Given the description of an element on the screen output the (x, y) to click on. 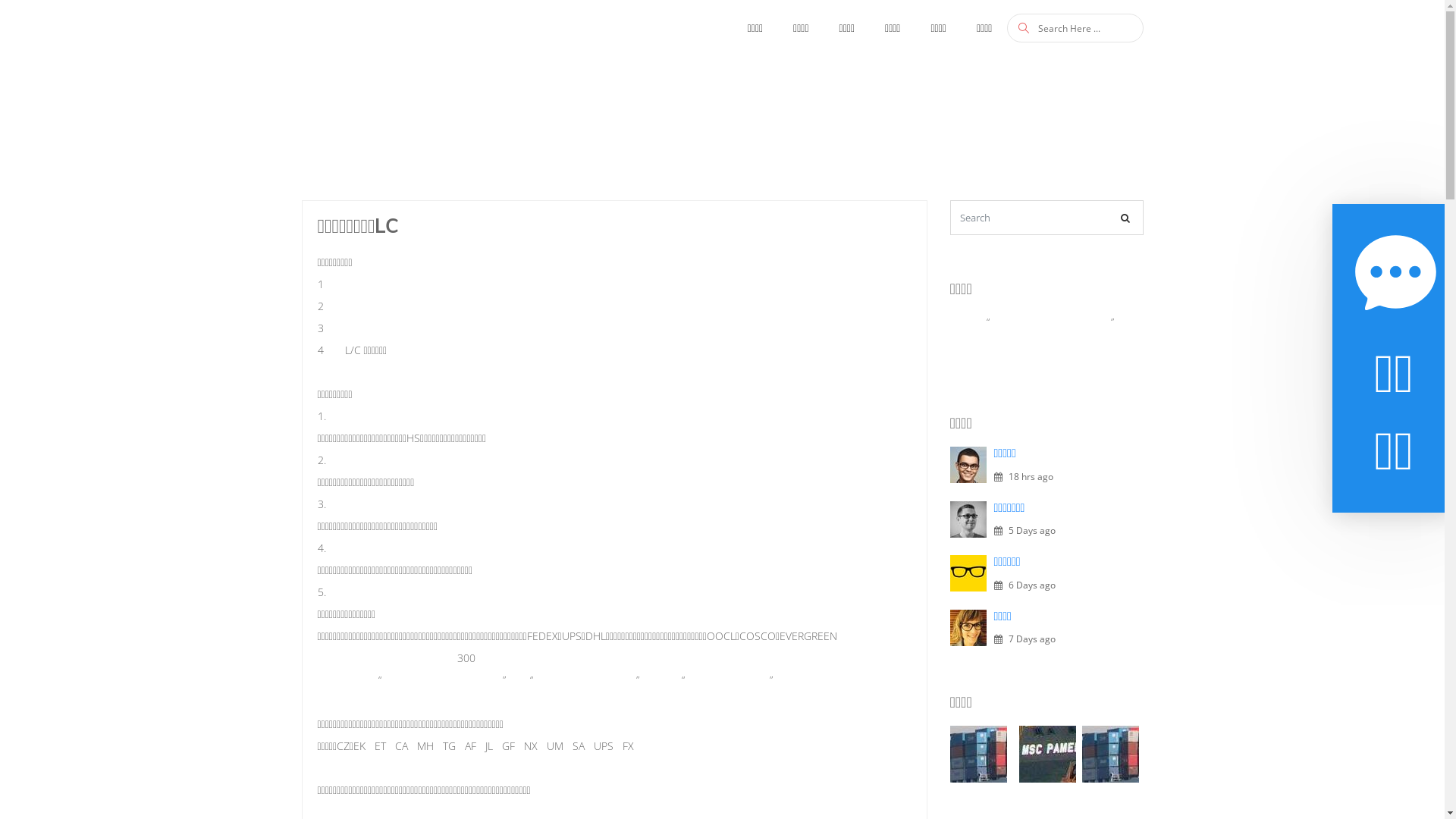
Smile Element type: hover (1047, 753)
Pan Masala Element type: hover (1109, 753)
Pan Masala Element type: hover (977, 753)
